Given the description of an element on the screen output the (x, y) to click on. 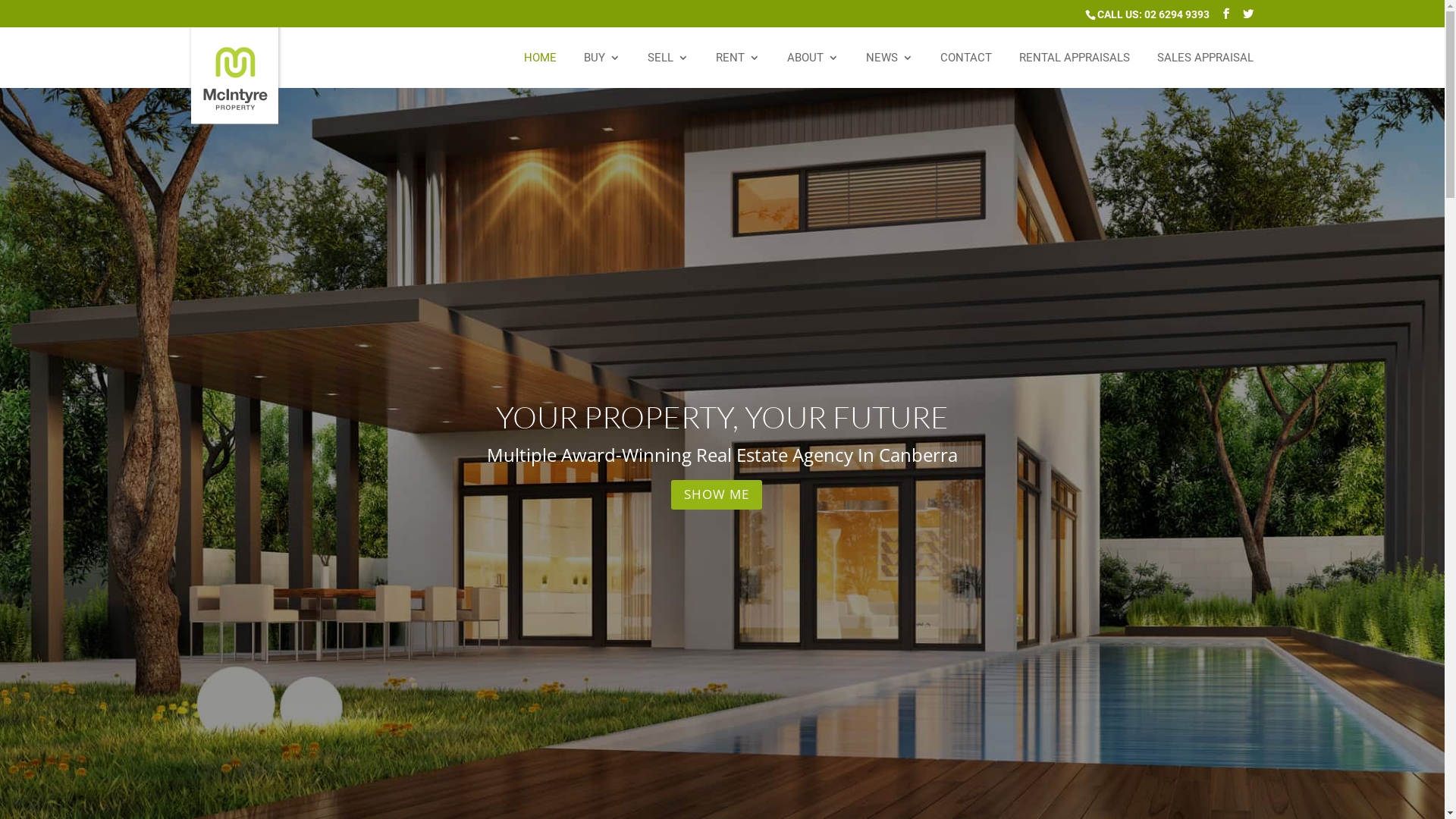
RENTAL APPRAISALS Element type: text (1074, 69)
CONTACT Element type: text (965, 69)
SHOW ME Element type: text (716, 494)
02 6294 9393 Element type: text (1175, 13)
NEWS Element type: text (889, 69)
RENT Element type: text (737, 69)
HOME Element type: text (539, 69)
ABOUT Element type: text (812, 69)
SALES APPRAISAL Element type: text (1205, 69)
SELL Element type: text (667, 69)
BUY Element type: text (601, 69)
